Given the description of an element on the screen output the (x, y) to click on. 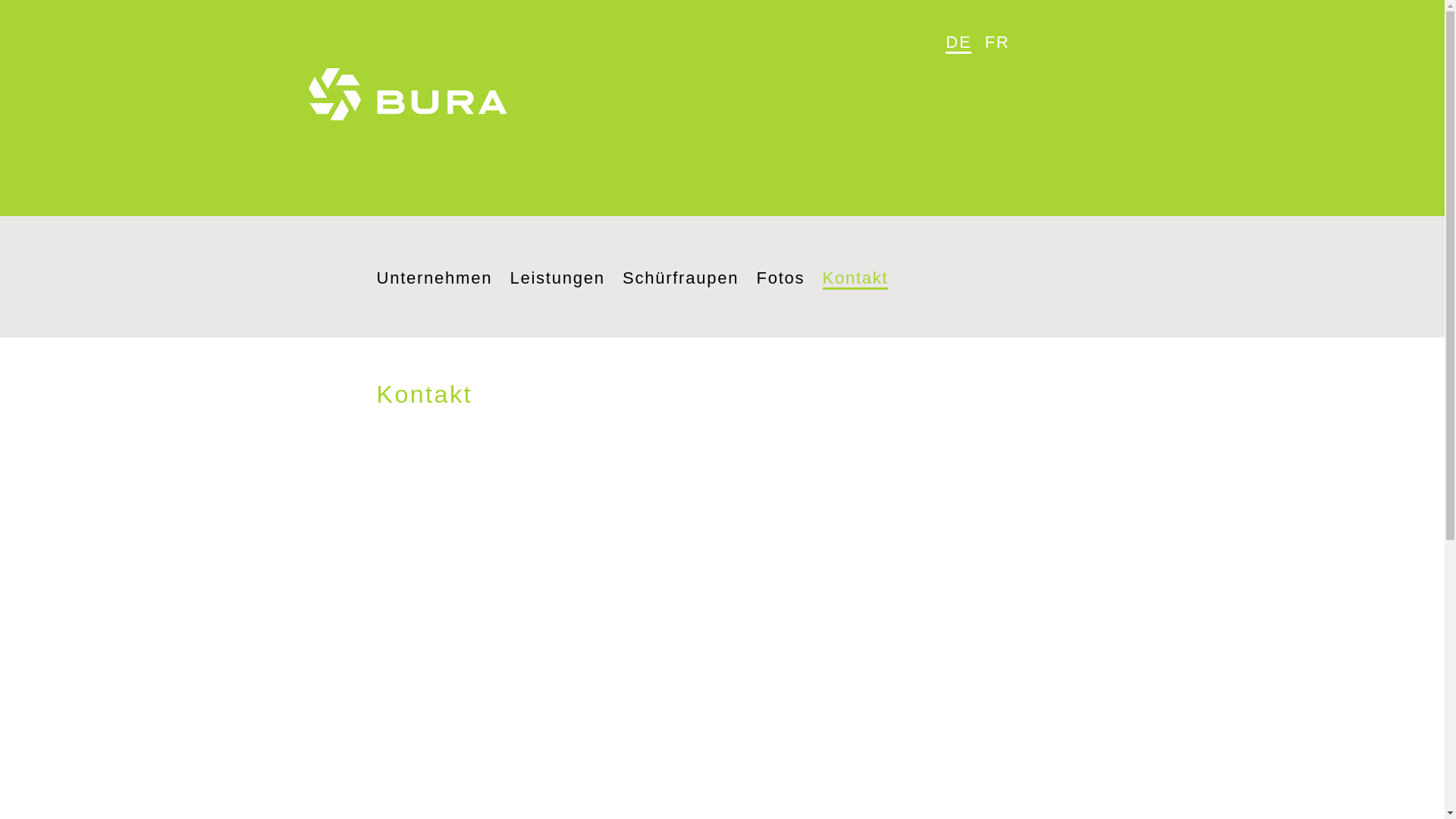
Kontakt Element type: text (855, 278)
Leistungen Element type: text (556, 277)
Unternehmen Element type: text (434, 277)
DE Element type: text (958, 42)
FR Element type: text (997, 41)
Fotos Element type: text (780, 277)
